Given the description of an element on the screen output the (x, y) to click on. 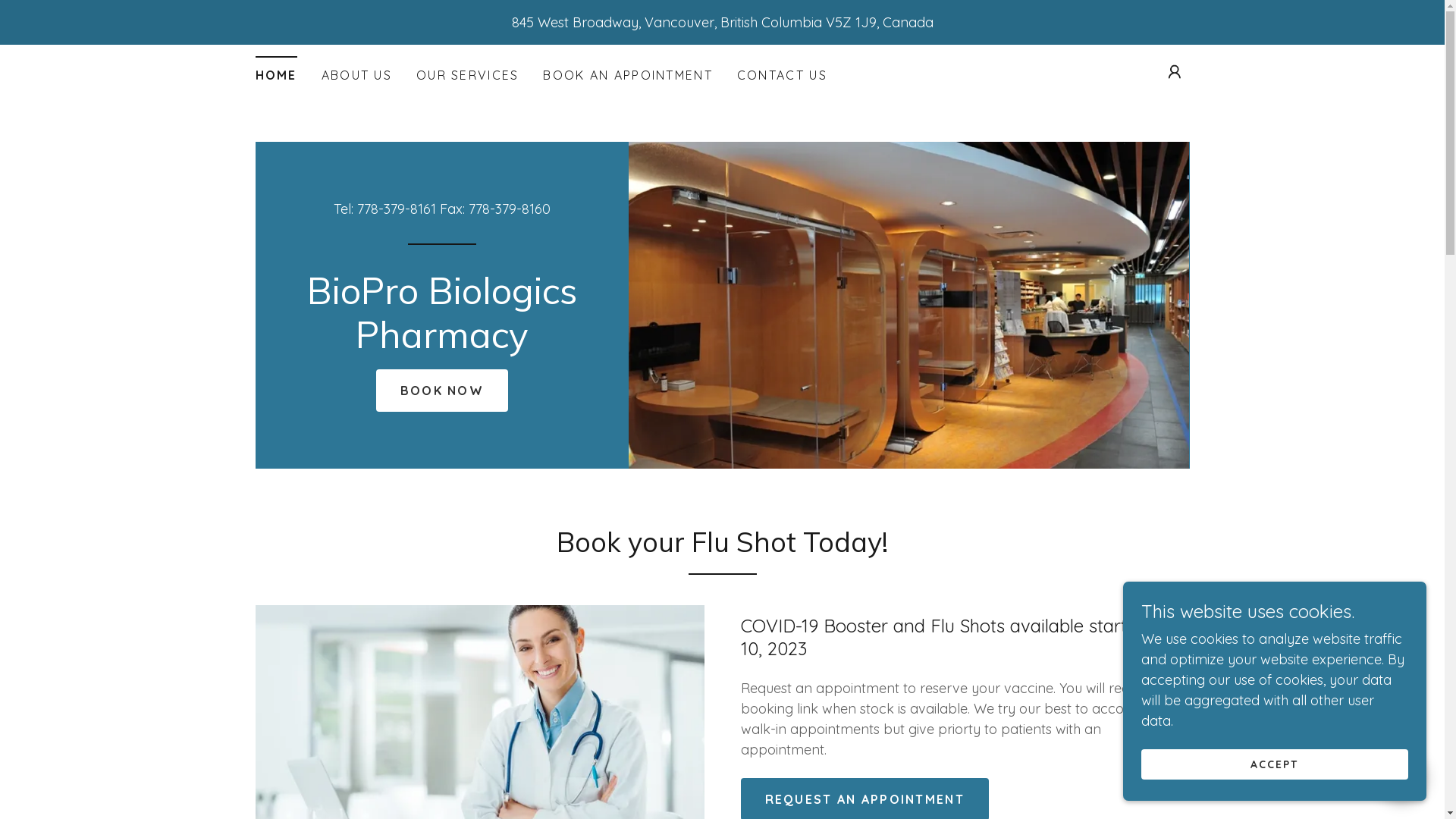
778-379-8160 Element type: text (509, 208)
HOME Element type: text (275, 70)
BOOK AN APPOINTMENT Element type: text (627, 74)
CONTACT US Element type: text (781, 74)
778-379-8161 Element type: text (396, 208)
ACCEPT Element type: text (1274, 764)
ABOUT US Element type: text (356, 74)
OUR SERVICES Element type: text (467, 74)
BioPro Biologics Pharmacy Element type: text (441, 342)
BOOK NOW Element type: text (442, 390)
